Given the description of an element on the screen output the (x, y) to click on. 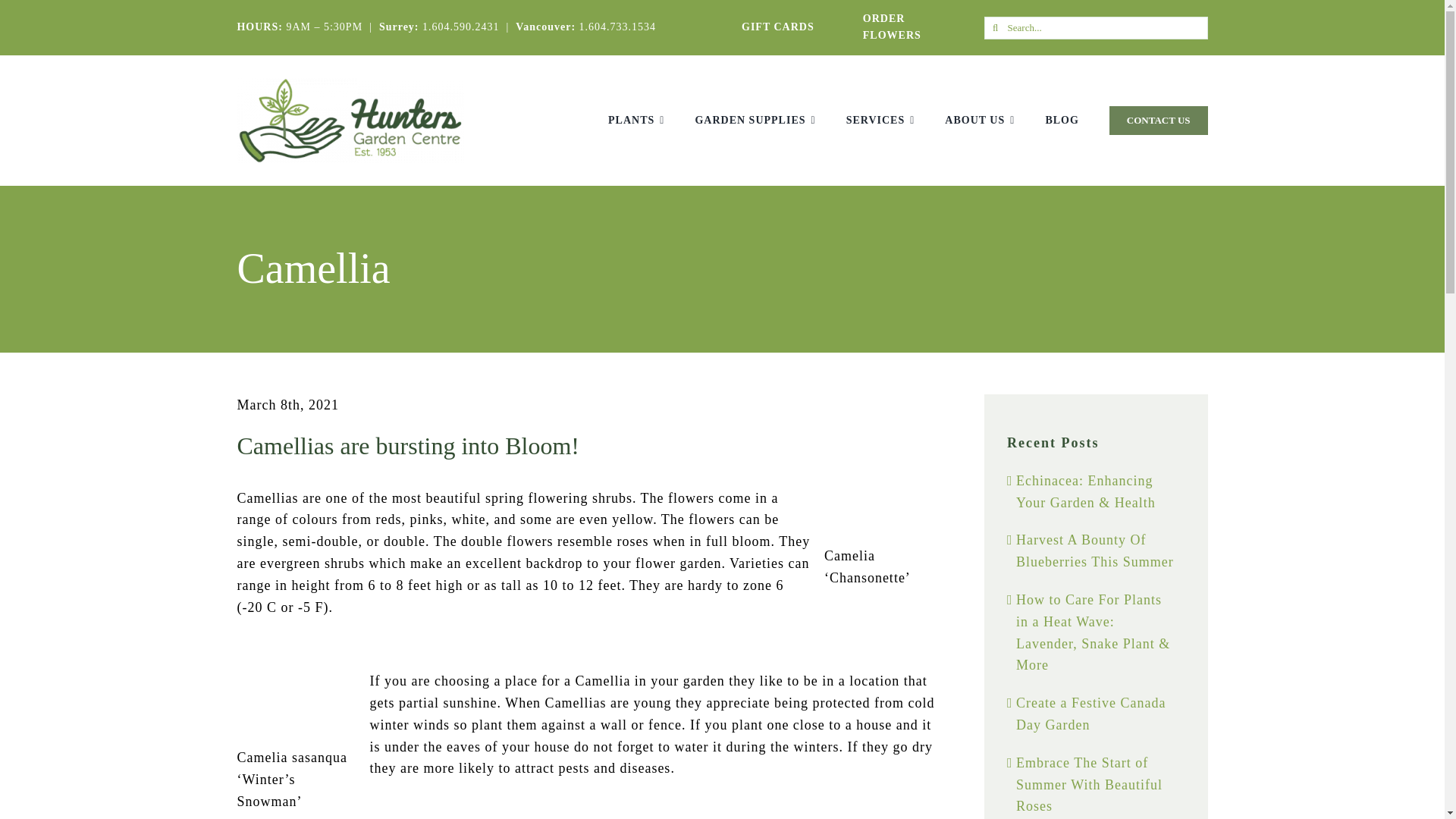
ORDER FLOWERS (892, 26)
Camelia sasanqua 'Winter's Snowman' (292, 689)
PLANTS (635, 120)
GIFT CARDS (777, 26)
Camelia sasanqua 'Chansonette' (880, 488)
